Given the description of an element on the screen output the (x, y) to click on. 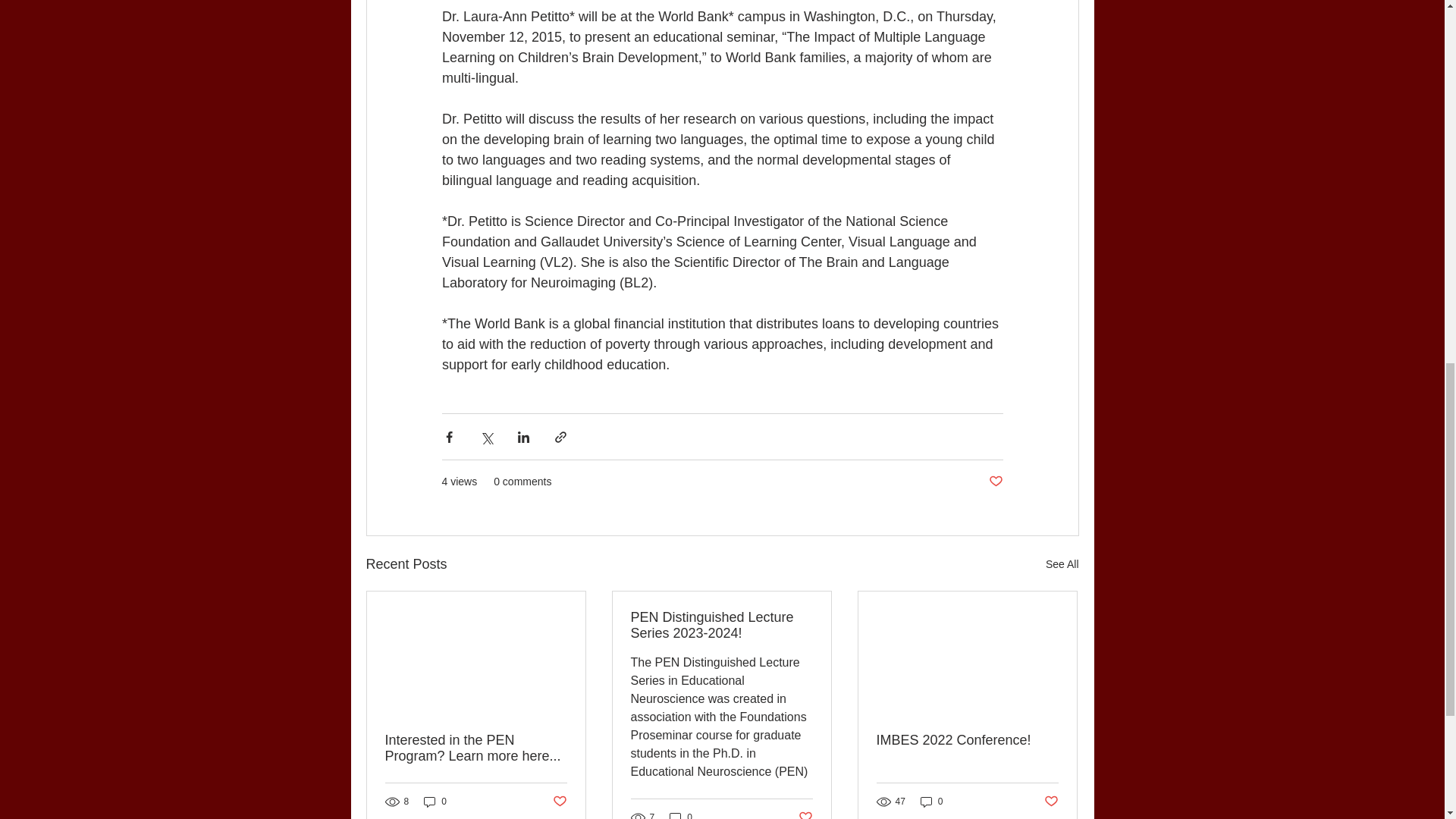
See All (1061, 564)
Post not marked as liked (995, 481)
